Given the description of an element on the screen output the (x, y) to click on. 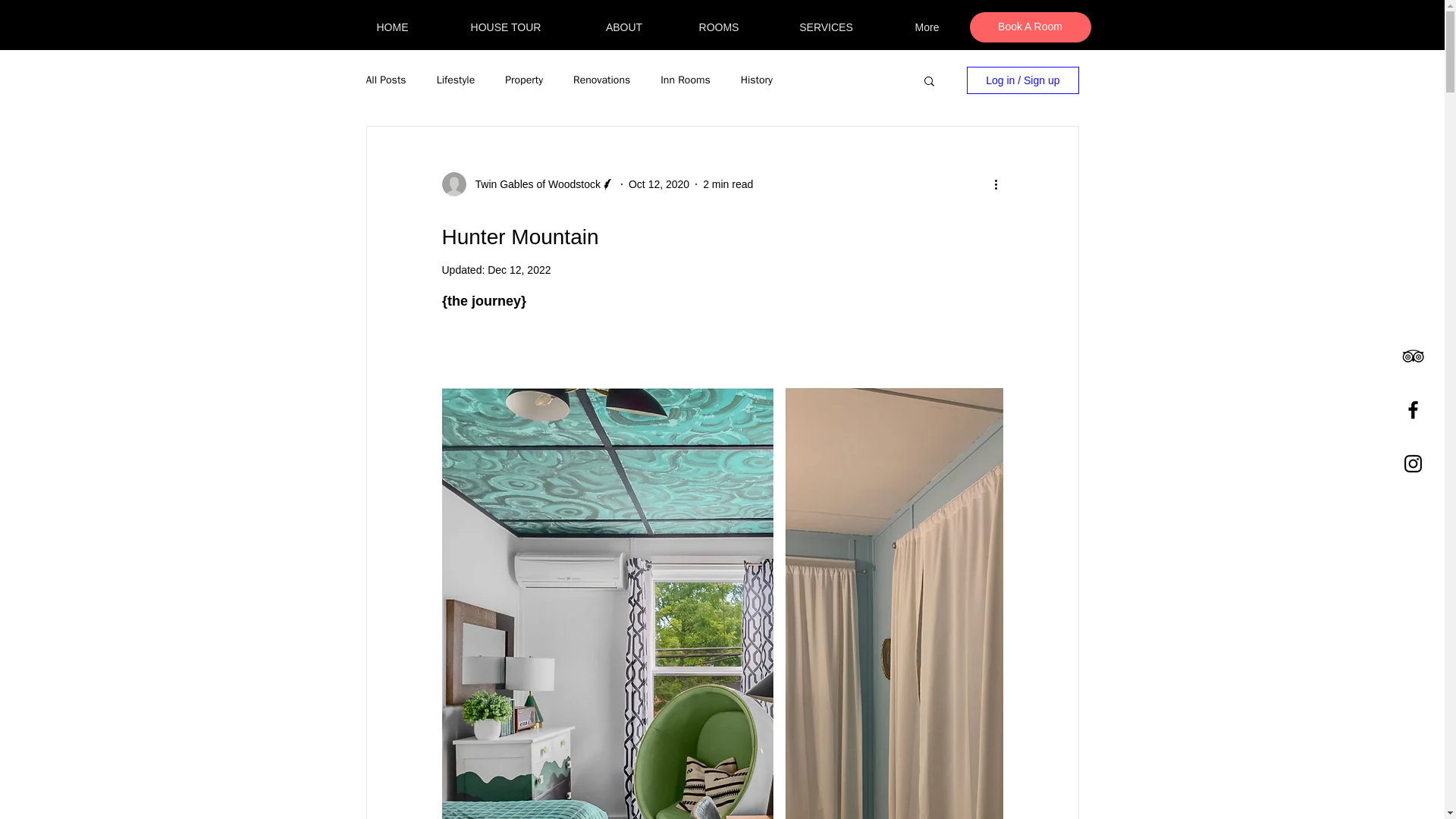
History (757, 79)
Property (524, 79)
HOME (391, 27)
HOUSE TOUR (504, 27)
Lifestyle (456, 79)
SERVICES (826, 27)
Twin Gables of Woodstock (532, 183)
ROOMS (718, 27)
All Posts (385, 79)
2 min read (727, 183)
